Given the description of an element on the screen output the (x, y) to click on. 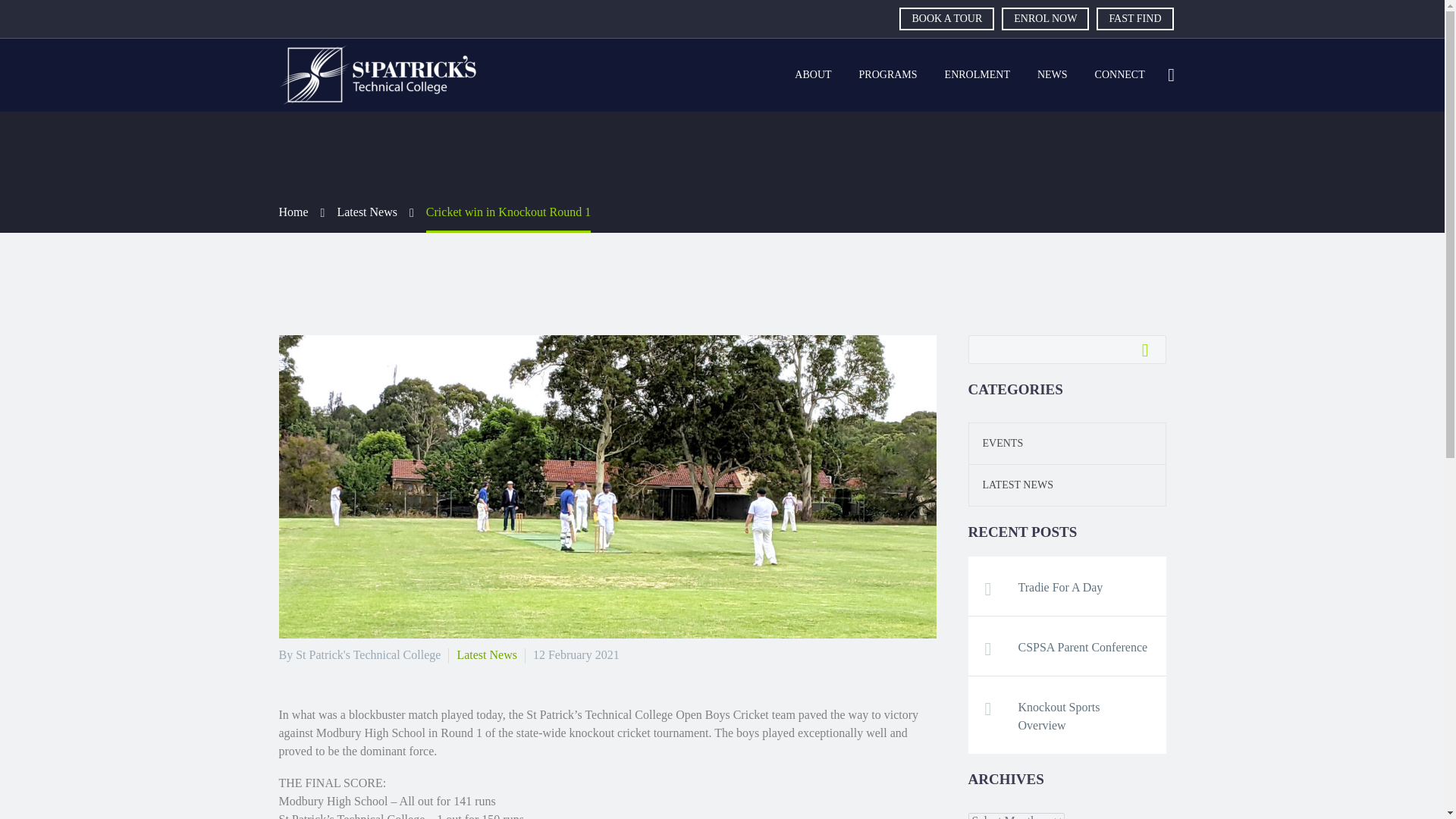
ABOUT (813, 74)
ENROLMENT (977, 74)
View all posts filed under Events (996, 442)
FAST FIND (1134, 18)
View all posts in Latest News (486, 654)
NEWS (1052, 74)
ENROL NOW (1045, 18)
BOOK A TOUR (946, 18)
PROGRAMS (887, 74)
View all posts filed under Latest News (1010, 484)
